Given the description of an element on the screen output the (x, y) to click on. 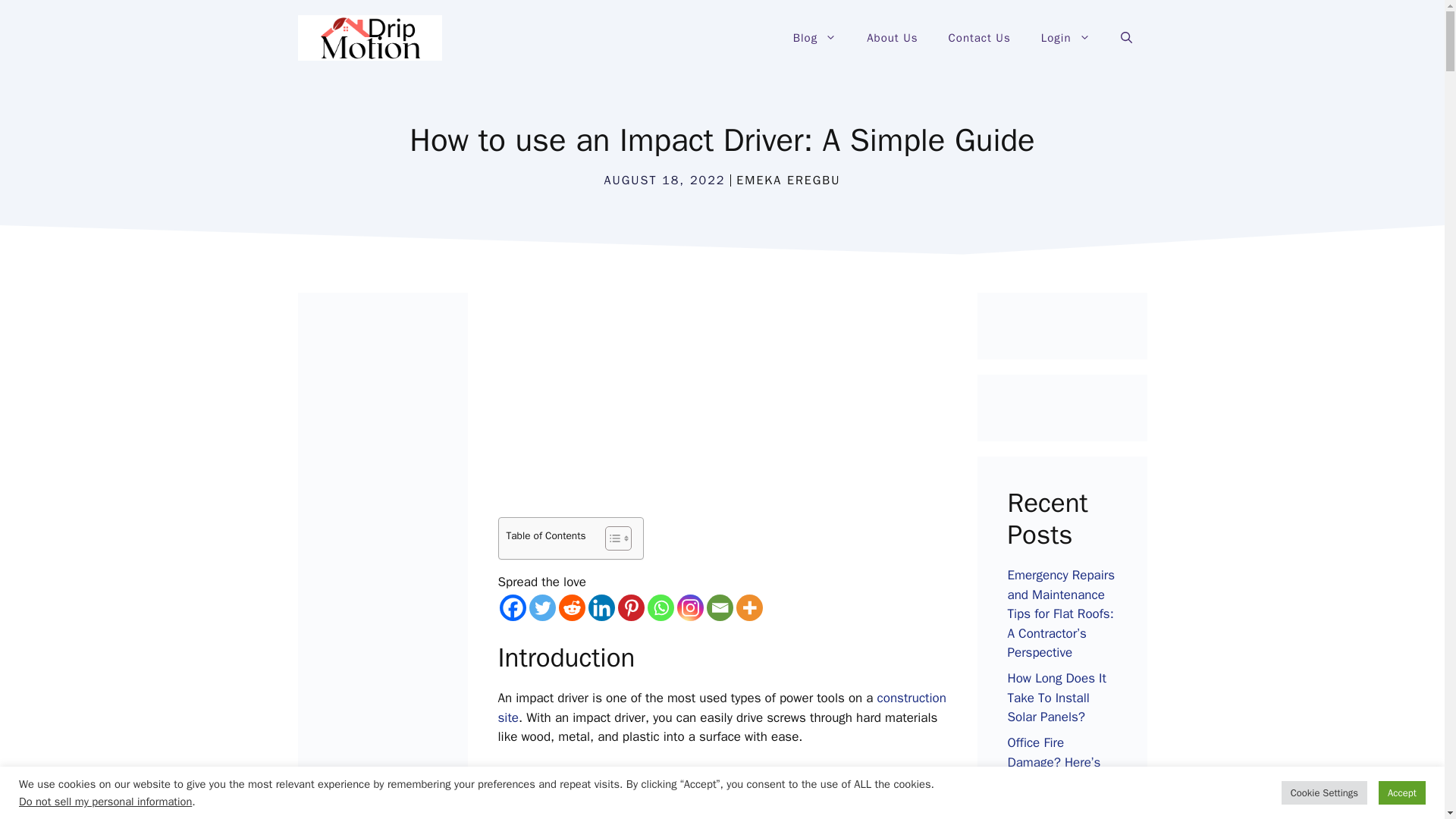
Advertisement (739, 404)
Login (1065, 37)
About Us (892, 37)
Contact Us (979, 37)
EMEKA EREGBU (788, 180)
Blog (814, 37)
